Given the description of an element on the screen output the (x, y) to click on. 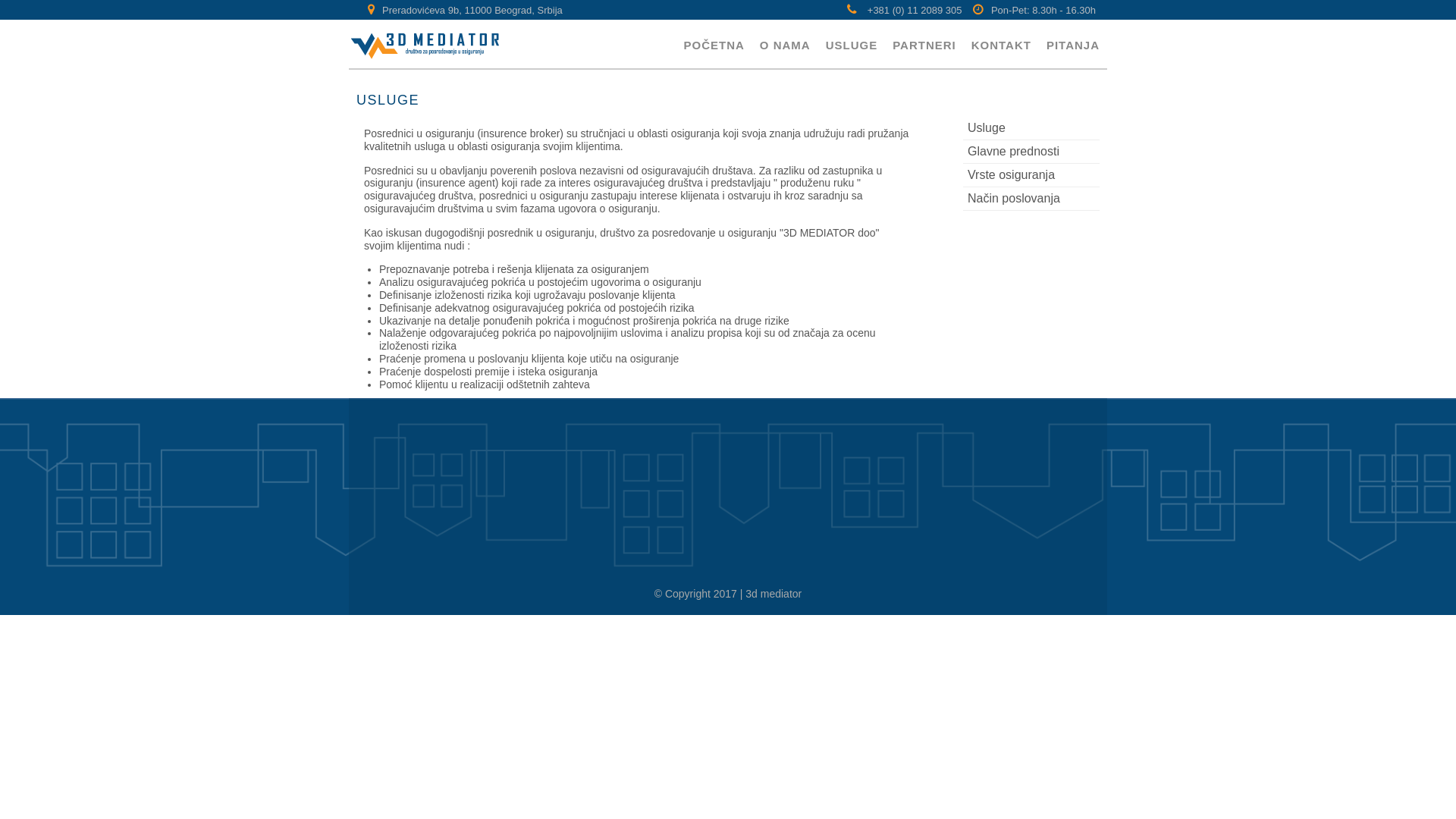
KONTAKT Element type: text (1000, 44)
Glavne prednosti Element type: text (1031, 151)
Usluge Element type: text (1031, 128)
PITANJA Element type: text (1072, 44)
USLUGE Element type: text (851, 44)
PARTNERI Element type: text (923, 44)
O NAMA Element type: text (785, 44)
Vrste osiguranja Element type: text (1031, 175)
